Given the description of an element on the screen output the (x, y) to click on. 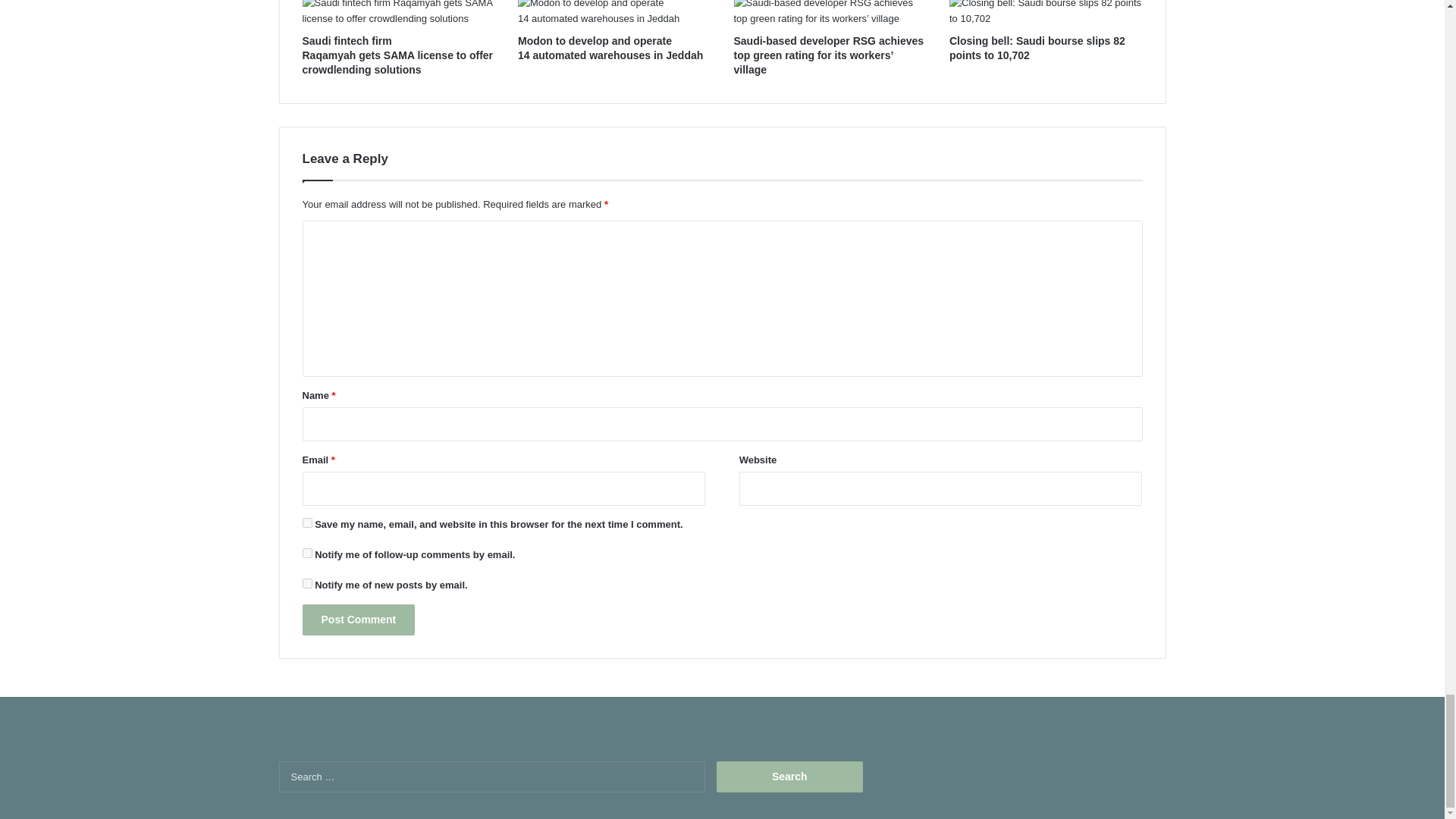
subscribe (306, 583)
yes (306, 522)
Search (789, 776)
subscribe (306, 552)
Search (789, 776)
Post Comment (357, 619)
